Given the description of an element on the screen output the (x, y) to click on. 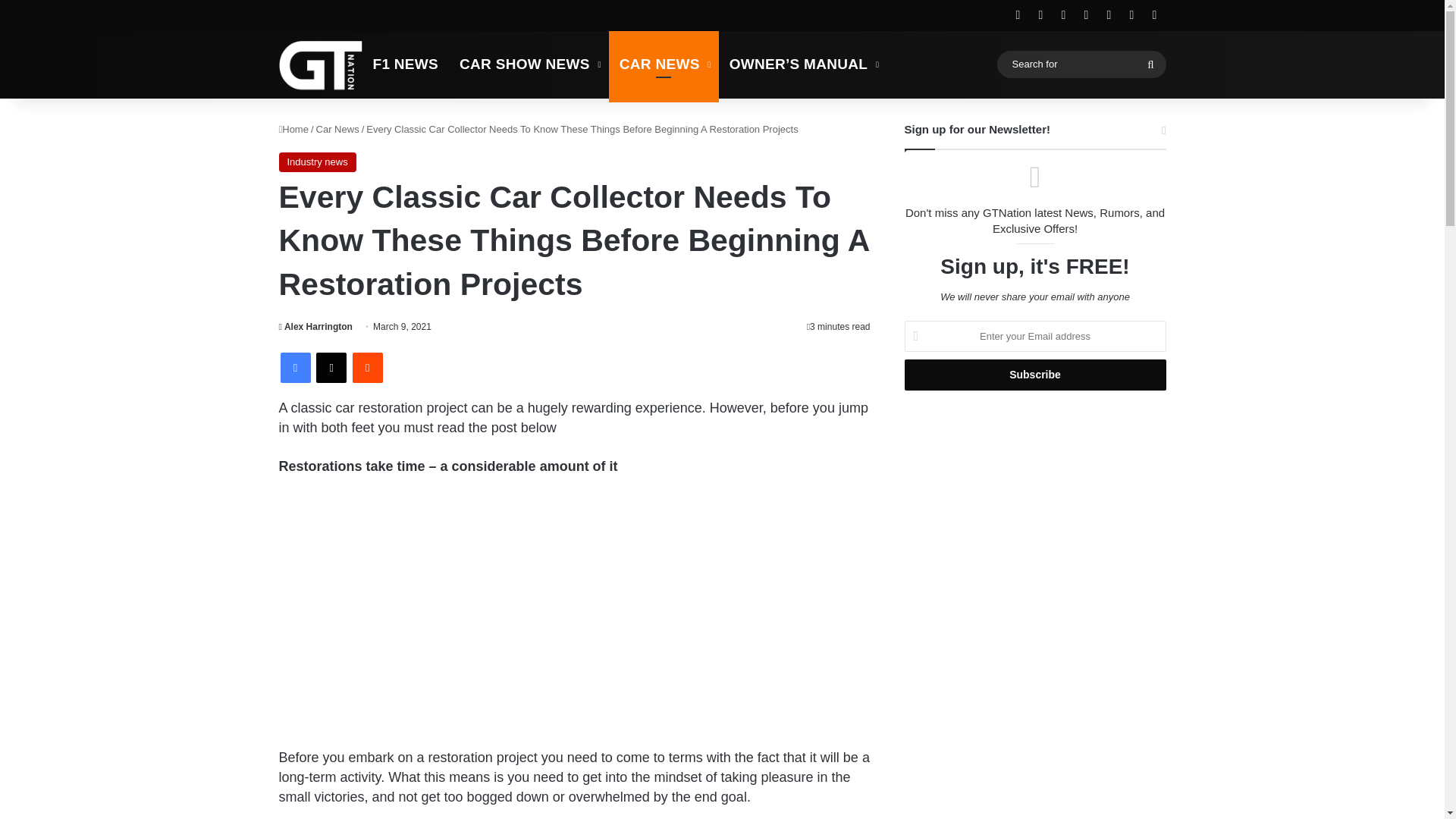
Industry news (317, 161)
Grand Tour Nation (320, 64)
CAR SHOW NEWS (528, 64)
F1 NEWS (405, 64)
CAR NEWS (663, 64)
Reddit (367, 367)
X (330, 367)
Car News (337, 129)
X (330, 367)
Facebook (296, 367)
